Given the description of an element on the screen output the (x, y) to click on. 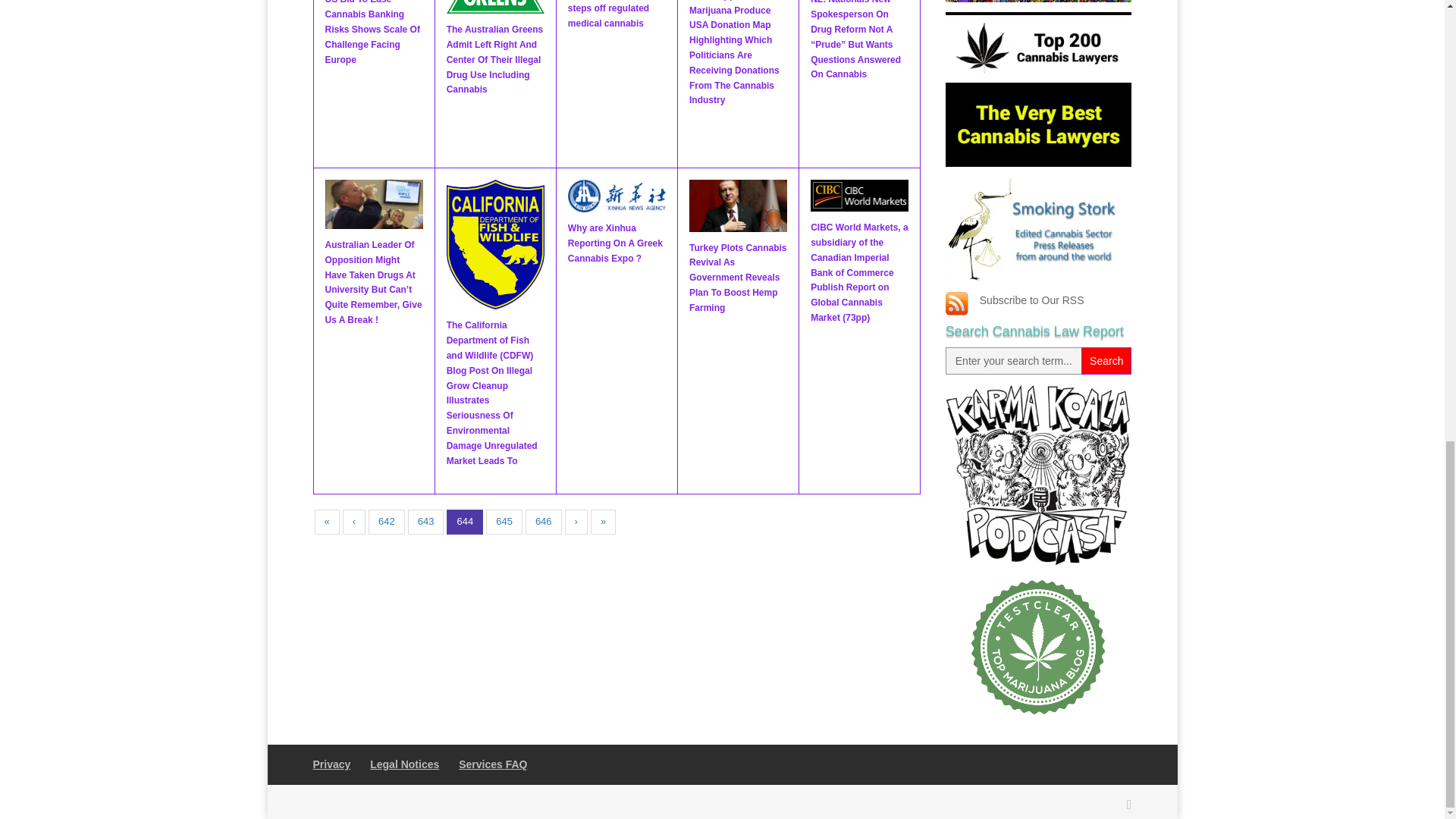
Current page is 644 (464, 521)
Go to page 643 (425, 521)
Go to last page (603, 521)
Go to page 645 (504, 521)
Search (1106, 360)
Go to previous page (353, 521)
Go to first page (326, 521)
Go to page 646 (543, 521)
Search (1106, 360)
Go to page 642 (386, 521)
Go to next page (576, 521)
